Given the description of an element on the screen output the (x, y) to click on. 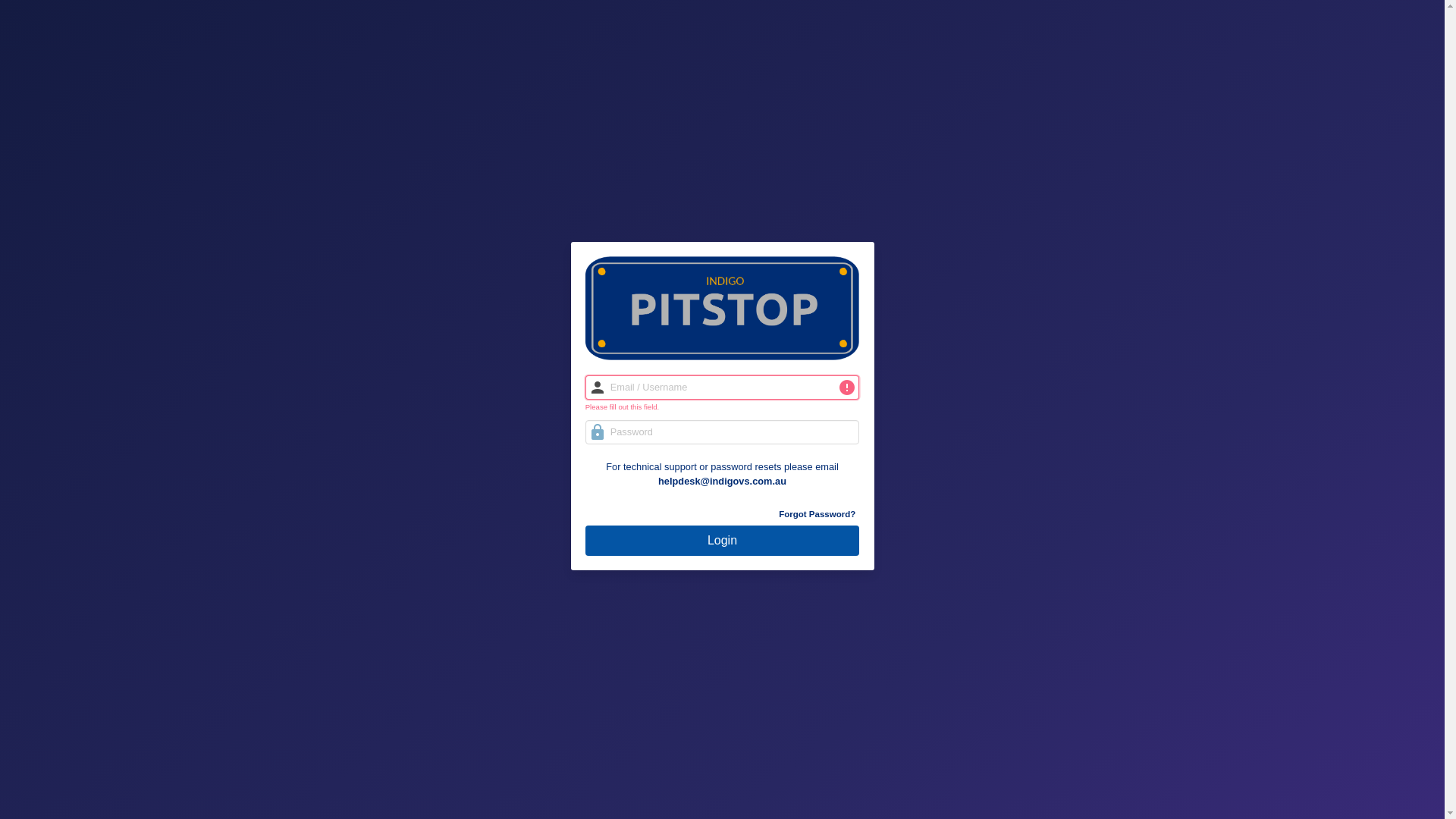
Forgot Password? Element type: text (722, 514)
Login Element type: text (722, 539)
